Given the description of an element on the screen output the (x, y) to click on. 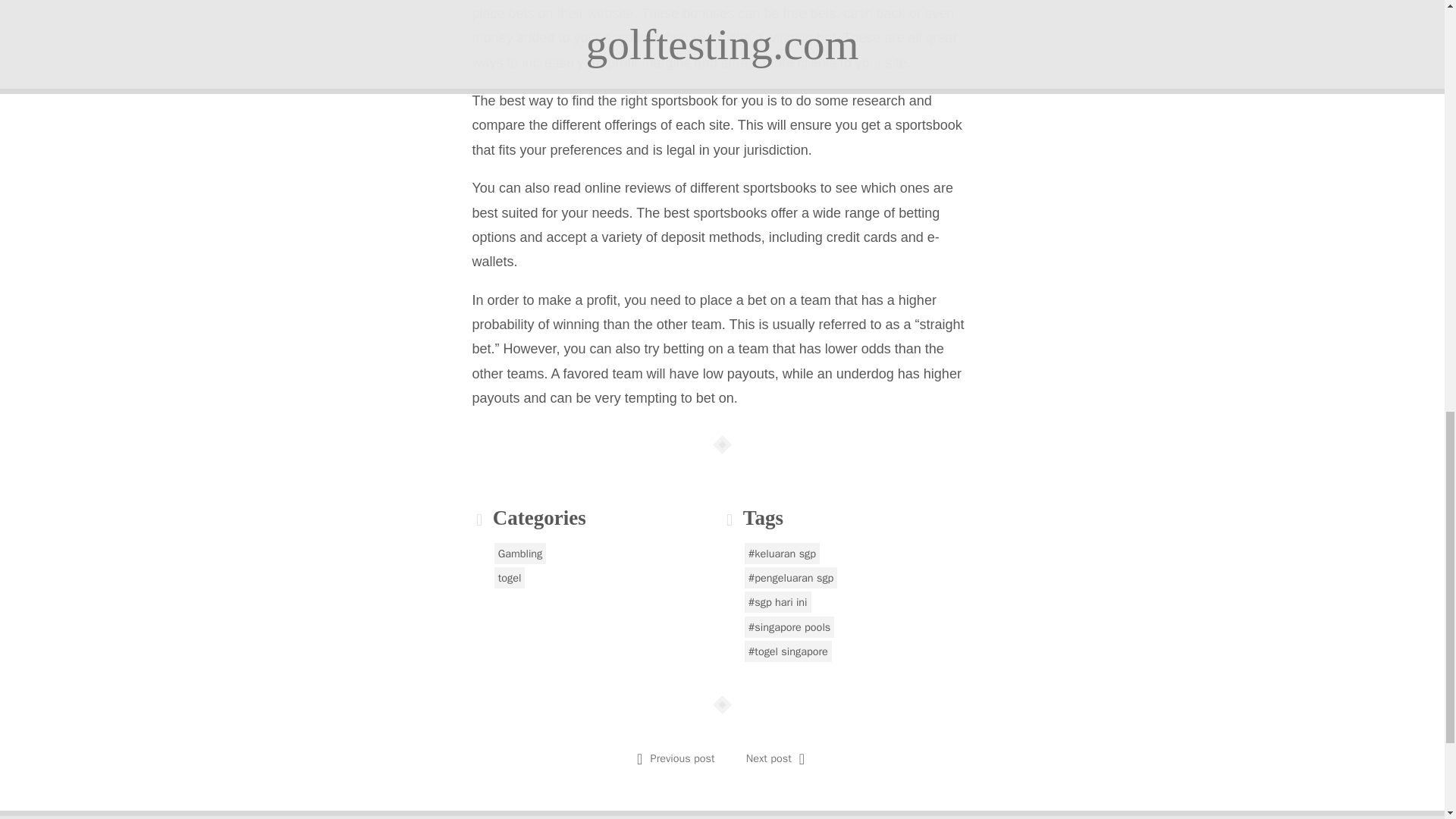
togel (510, 577)
Previous post (682, 757)
keluaran sgp (781, 553)
pengeluaran sgp (791, 577)
sgp hari ini (777, 601)
singapore pools (789, 627)
togel singapore (787, 650)
Gambling (521, 553)
Next post (768, 757)
